Given the description of an element on the screen output the (x, y) to click on. 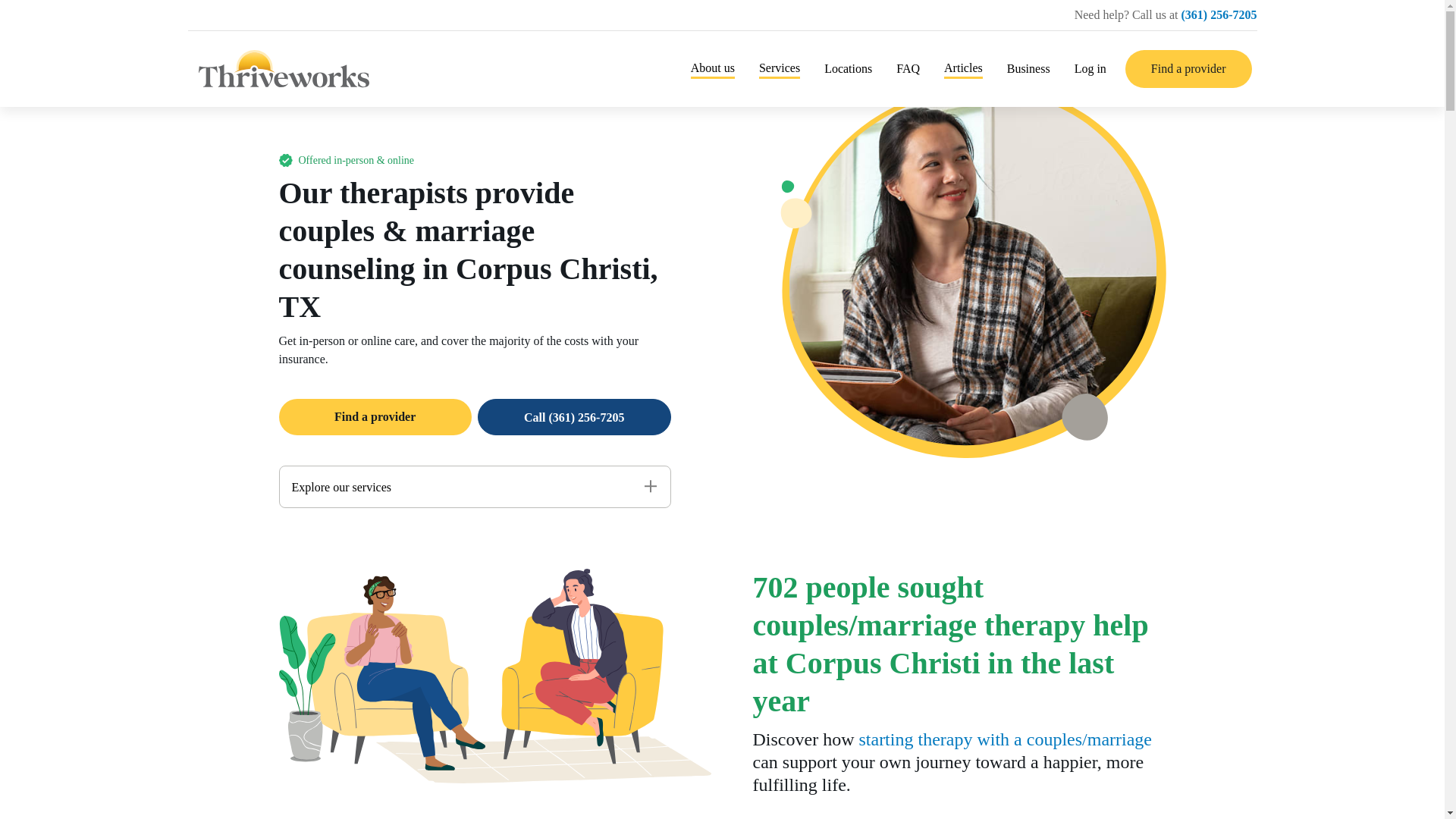
About us (712, 68)
Log in (1090, 67)
FAQ (907, 67)
Articles (962, 68)
Locations (847, 67)
Business (1028, 67)
FAQ (907, 67)
About us (712, 68)
Services (779, 68)
Services (779, 68)
